Given the description of an element on the screen output the (x, y) to click on. 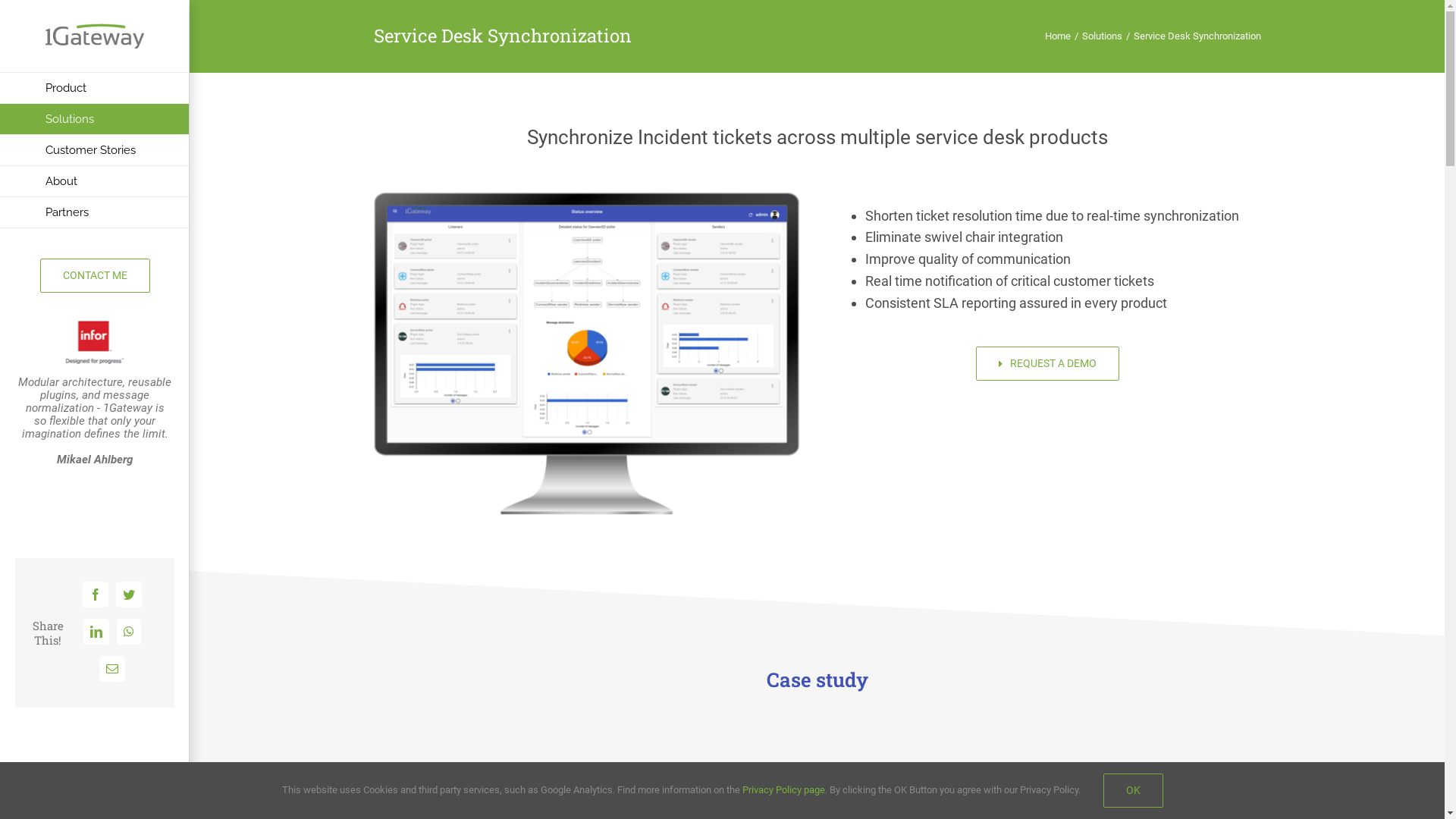
About Element type: text (94, 181)
OK Element type: text (1132, 790)
Product Element type: text (94, 87)
Status Overview Service Desk Synchronization Element type: hover (586, 198)
CONTACT ME Element type: text (94, 275)
Solutions Element type: text (94, 118)
Customer Stories Element type: text (94, 150)
REQUEST A DEMO Element type: text (1047, 363)
Solutions Element type: text (1101, 35)
Partners Element type: text (94, 212)
Home Element type: text (1057, 35)
Privacy Policy page Element type: text (782, 789)
